Given the description of an element on the screen output the (x, y) to click on. 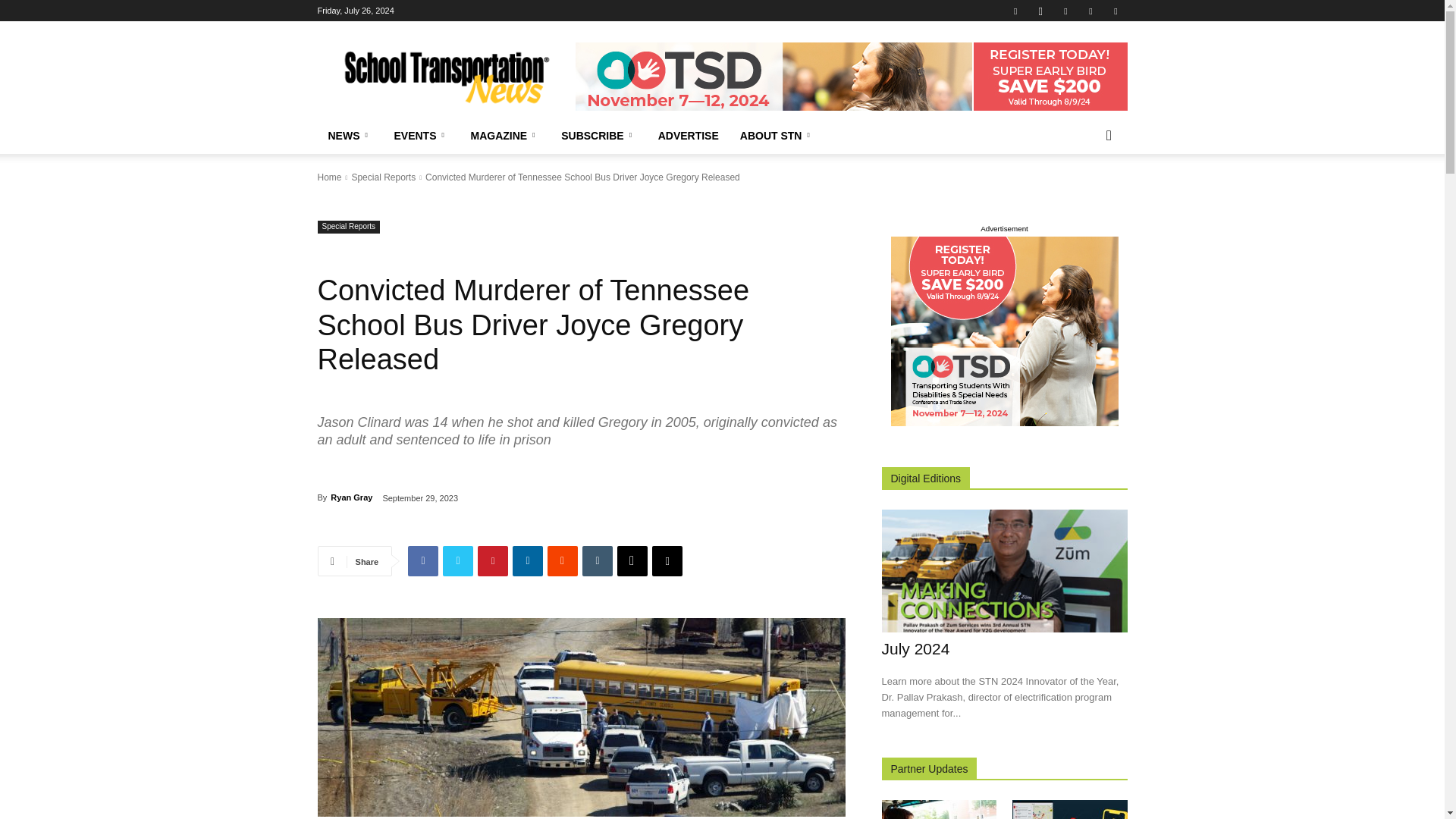
Facebook (422, 561)
Instagram (1040, 10)
Facebook (1015, 10)
Linkedin (1065, 10)
Linkedin (527, 561)
View all posts in Special Reports (382, 176)
Youtube (1114, 10)
Twitter (1090, 10)
Pinterest (492, 561)
Twitter (457, 561)
ReddIt (562, 561)
